Given the description of an element on the screen output the (x, y) to click on. 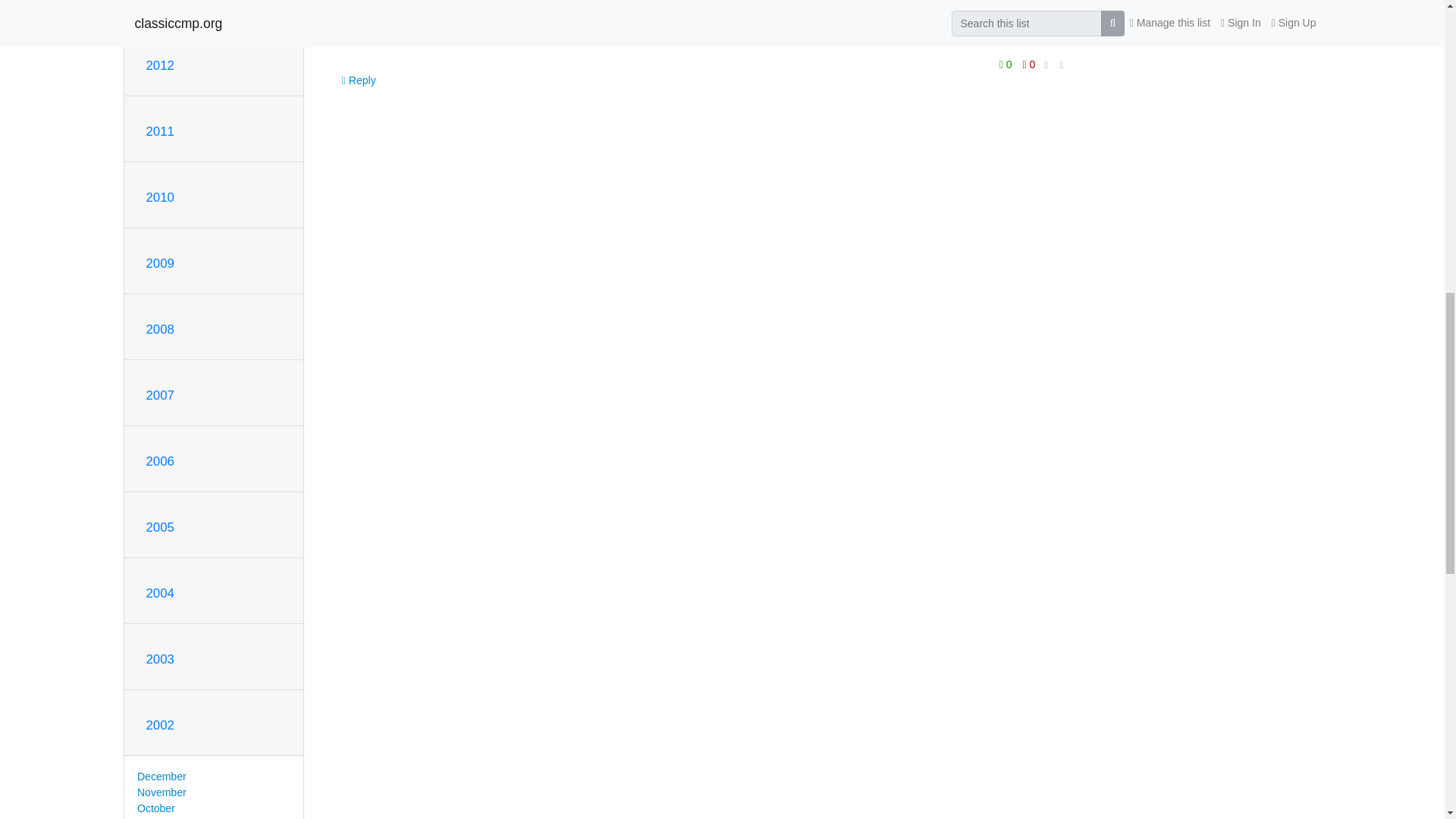
You must be logged-in to vote. (1029, 64)
You must be logged-in to vote. (1007, 64)
Sign in to reply online (359, 80)
